Given the description of an element on the screen output the (x, y) to click on. 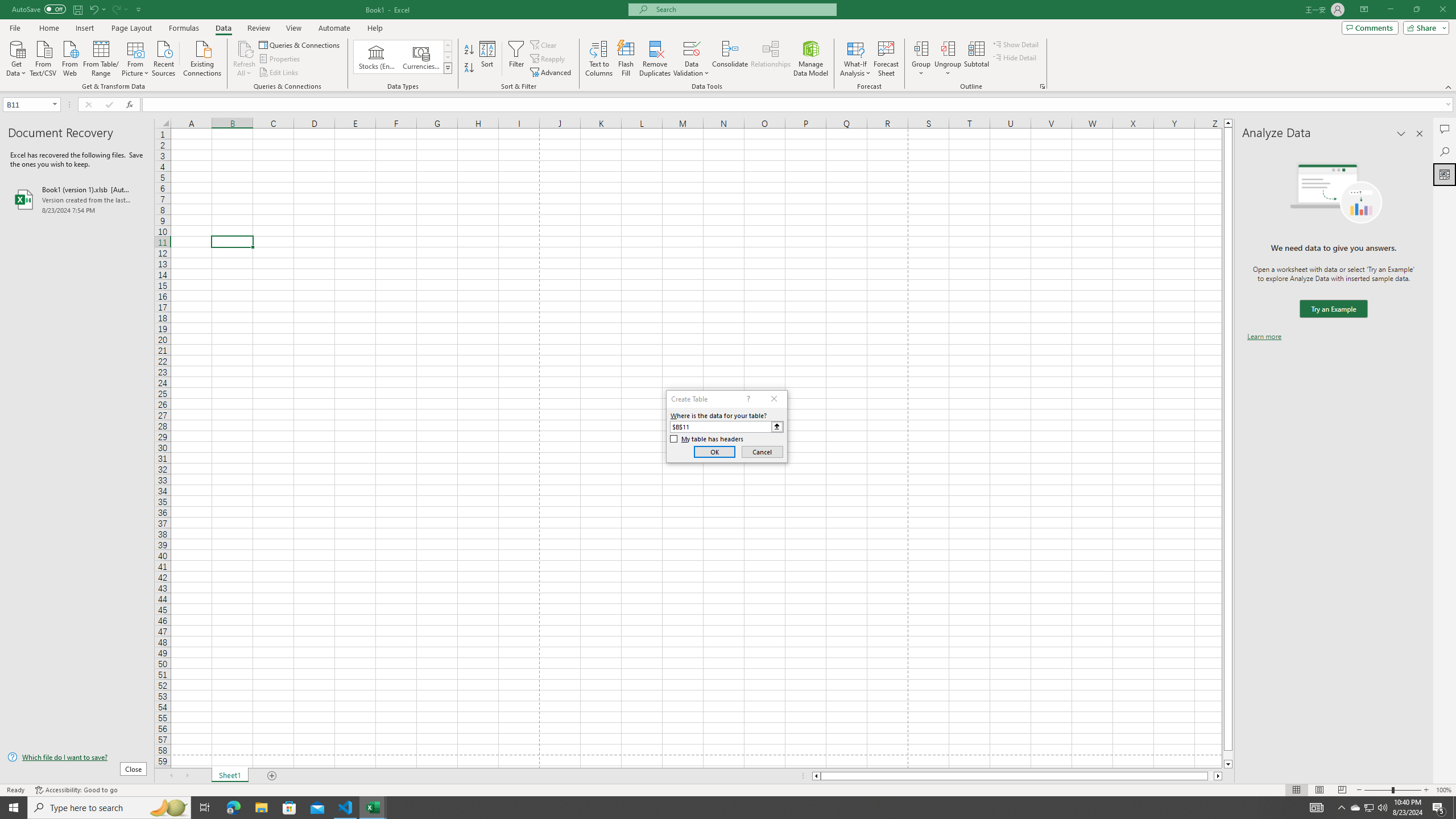
Data Validation... (691, 48)
Analyze Data (1444, 173)
Ungroup... (947, 48)
Group... (921, 48)
File Tab (15, 27)
Customize Quick Access Toolbar (139, 9)
Normal (1296, 790)
Zoom Out (1377, 790)
Sort Z to A (469, 67)
Existing Connections (202, 57)
Subtotal (976, 58)
System (6, 6)
Sort A to Z (469, 49)
Redo (119, 9)
Data (223, 28)
